Given the description of an element on the screen output the (x, y) to click on. 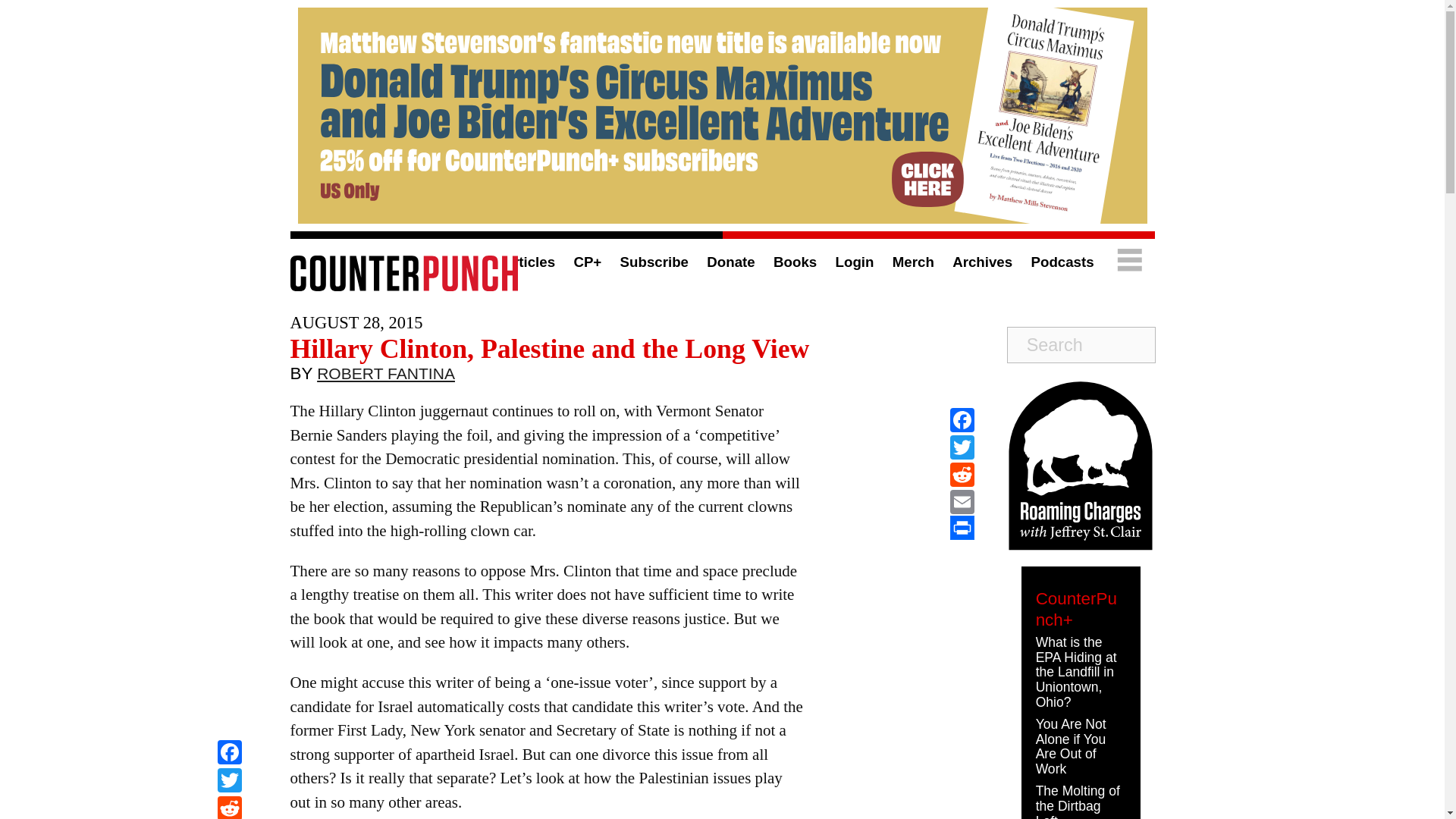
Donate (730, 261)
Twitter (962, 447)
Email (962, 501)
Facebook (962, 420)
Reddit (229, 807)
Twitter (229, 782)
Merch (913, 261)
Login (855, 261)
Books (794, 261)
Subscribe (654, 261)
Reddit (229, 807)
Print This Post (962, 527)
ROBERT FANTINA (385, 376)
You Are Not Alone if You Are Out of Work (1070, 746)
Reddit (962, 474)
